Given the description of an element on the screen output the (x, y) to click on. 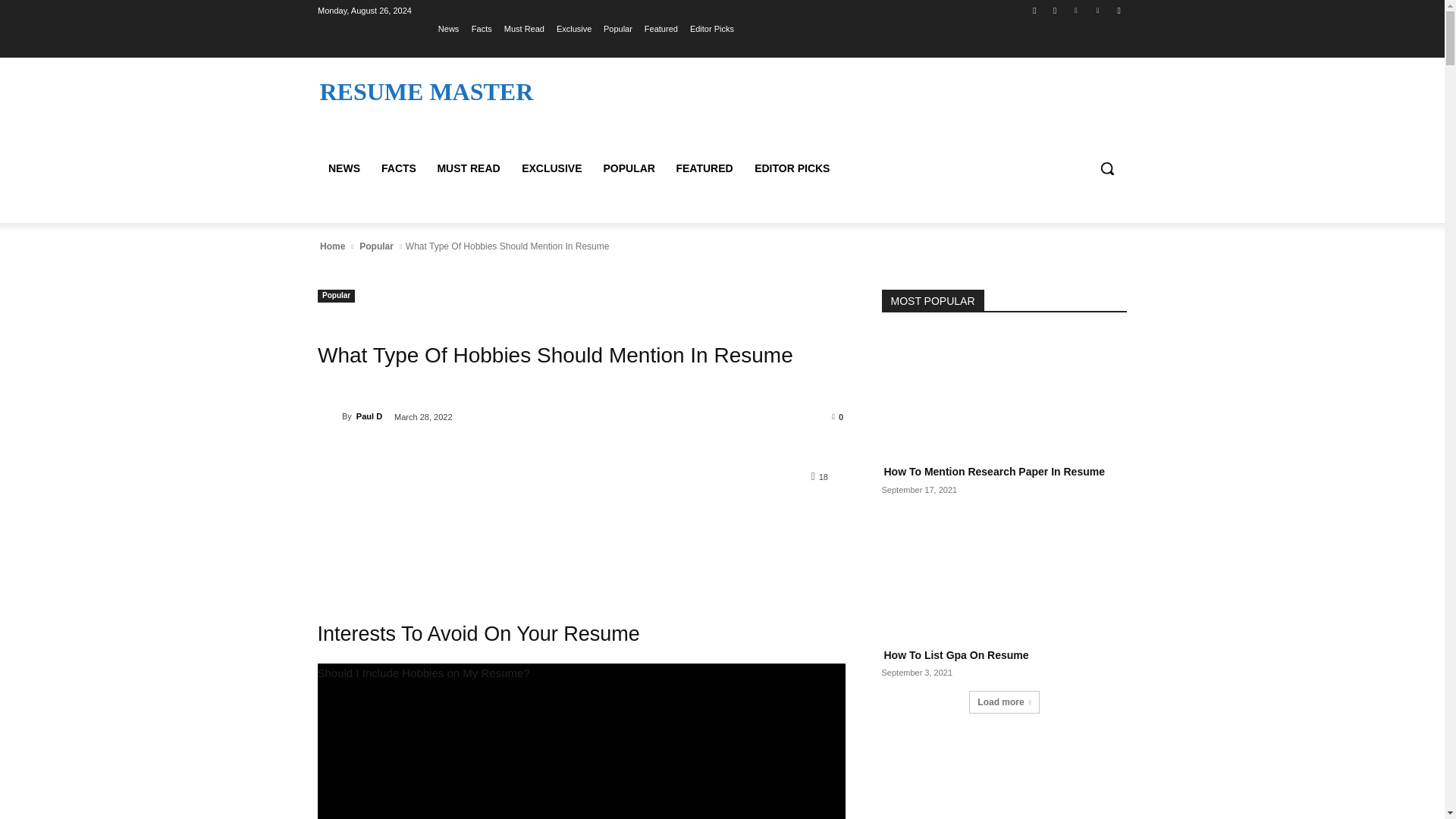
View all posts in Popular (376, 246)
EXCLUSIVE (551, 167)
Facebook (1034, 9)
Paul D (328, 416)
Facts (481, 28)
Popular (617, 28)
Featured (661, 28)
FEATURED (703, 167)
POPULAR (628, 167)
FACTS (397, 167)
